Given the description of an element on the screen output the (x, y) to click on. 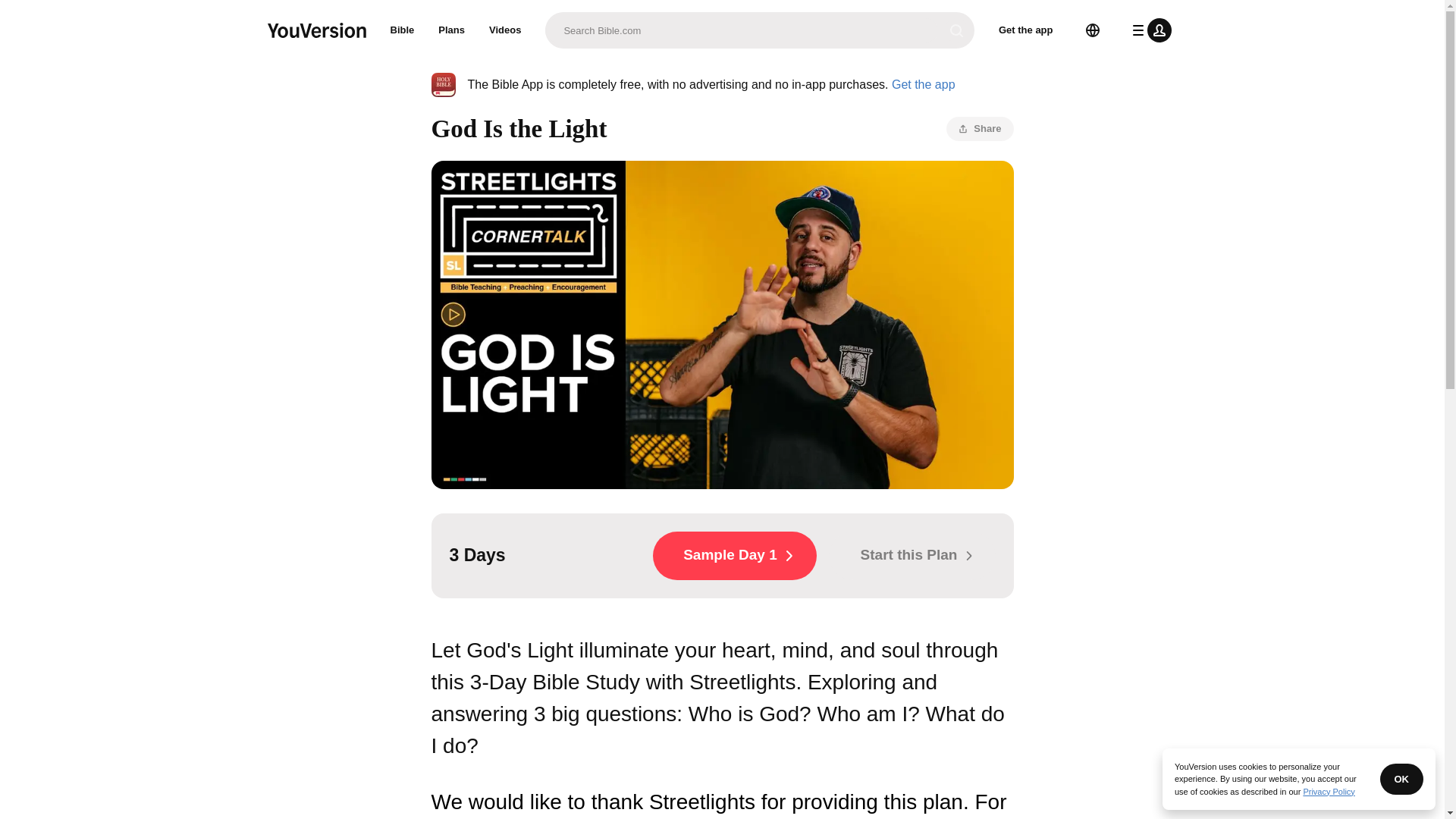
Plans (451, 29)
Videos (504, 29)
Sample Day 1 (734, 555)
Share (979, 128)
Get the app (923, 83)
Get the app (1026, 29)
Bible Icon (442, 84)
Bible (401, 29)
Start this Plan (911, 555)
